Given the description of an element on the screen output the (x, y) to click on. 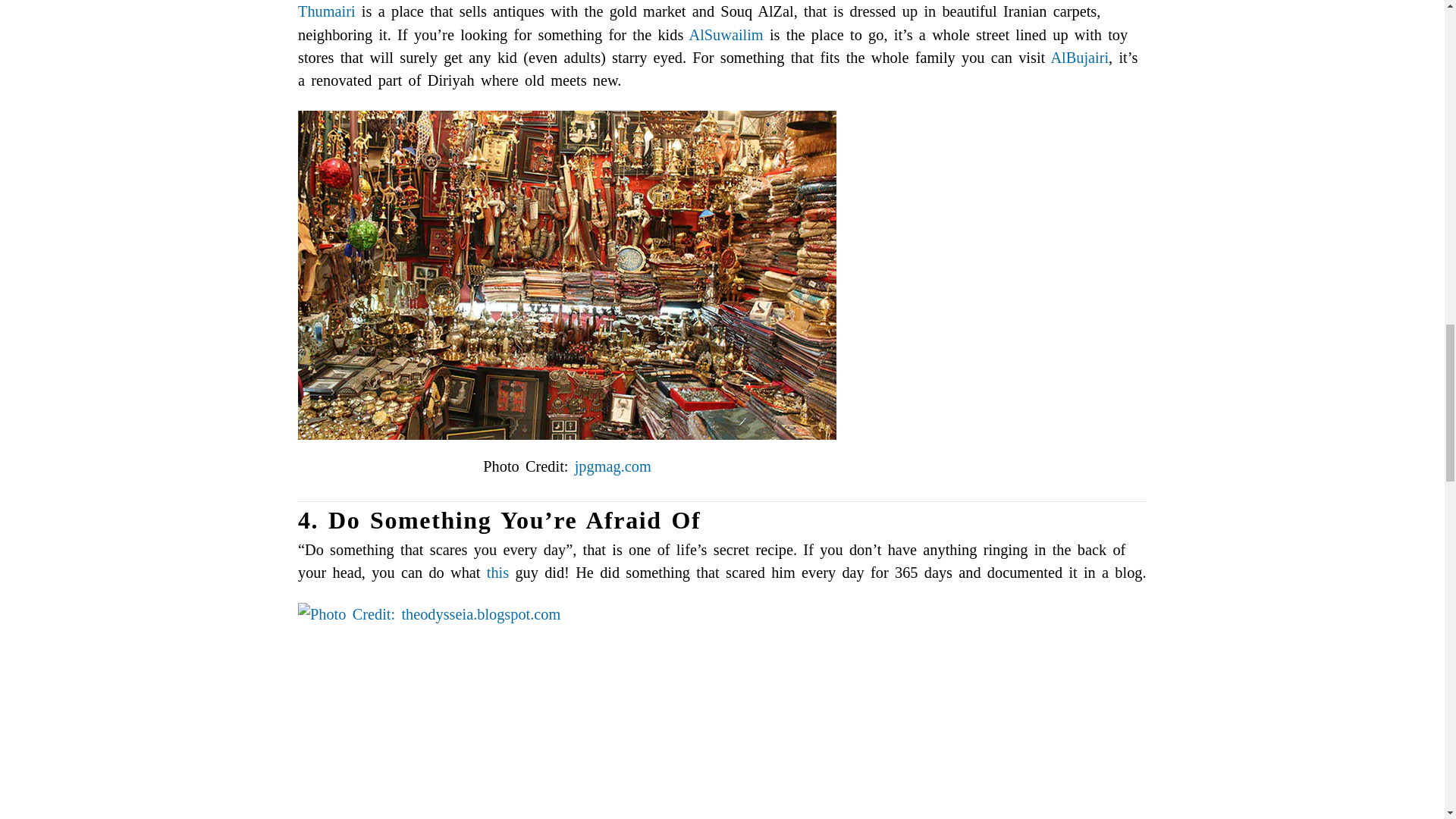
Thumairi (326, 11)
AlSuwailim (725, 33)
5 Things To Do In Riyadh During Summer 4 (566, 710)
